Given the description of an element on the screen output the (x, y) to click on. 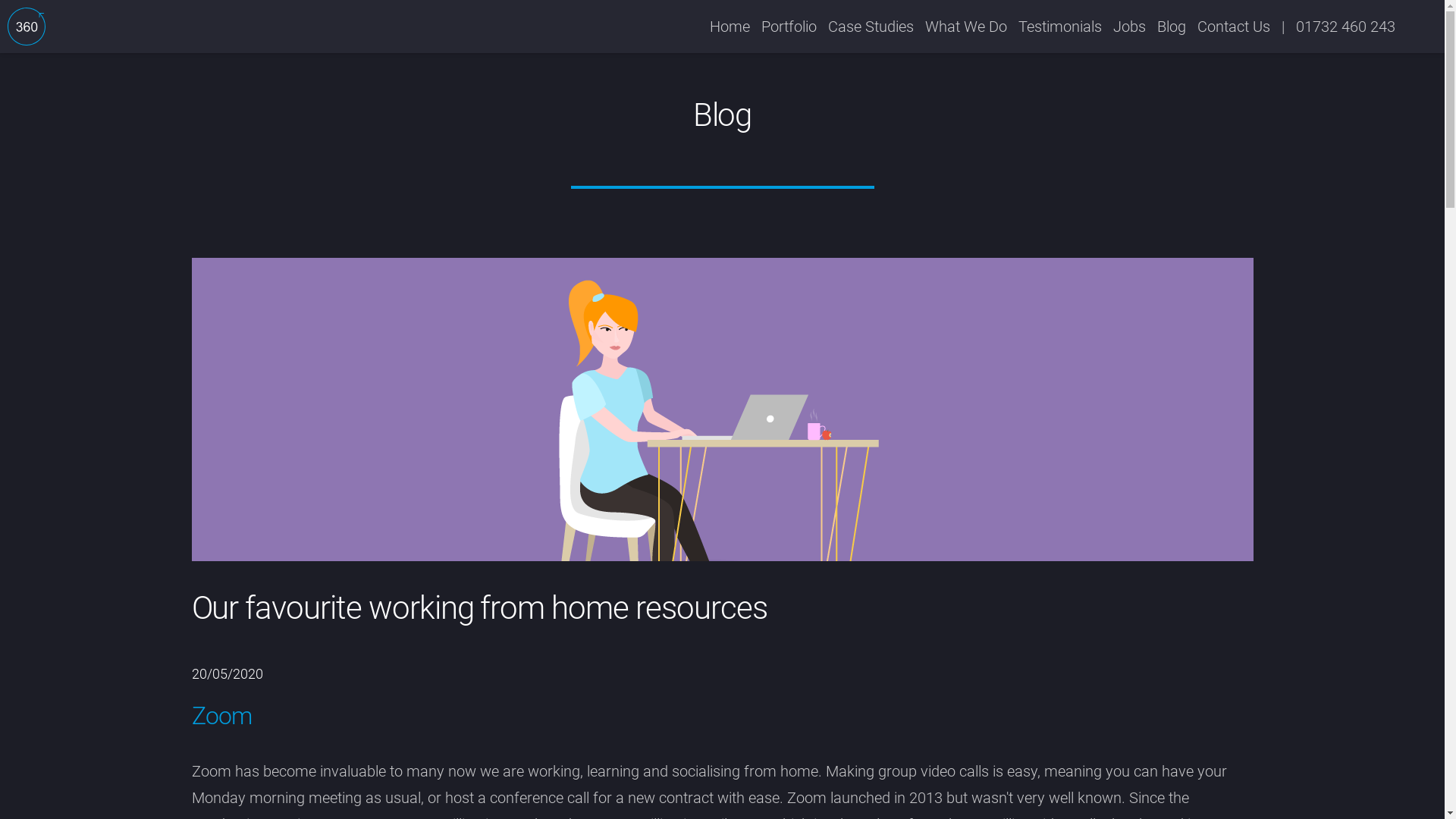
Jobs Element type: text (1129, 26)
Testimonials Element type: text (1059, 26)
Contact Us Element type: text (1233, 26)
What We Do Element type: text (966, 26)
Blog Element type: text (1171, 26)
Portfolio Element type: text (788, 26)
Home Element type: text (729, 26)
Case Studies Element type: text (870, 26)
